Given the description of an element on the screen output the (x, y) to click on. 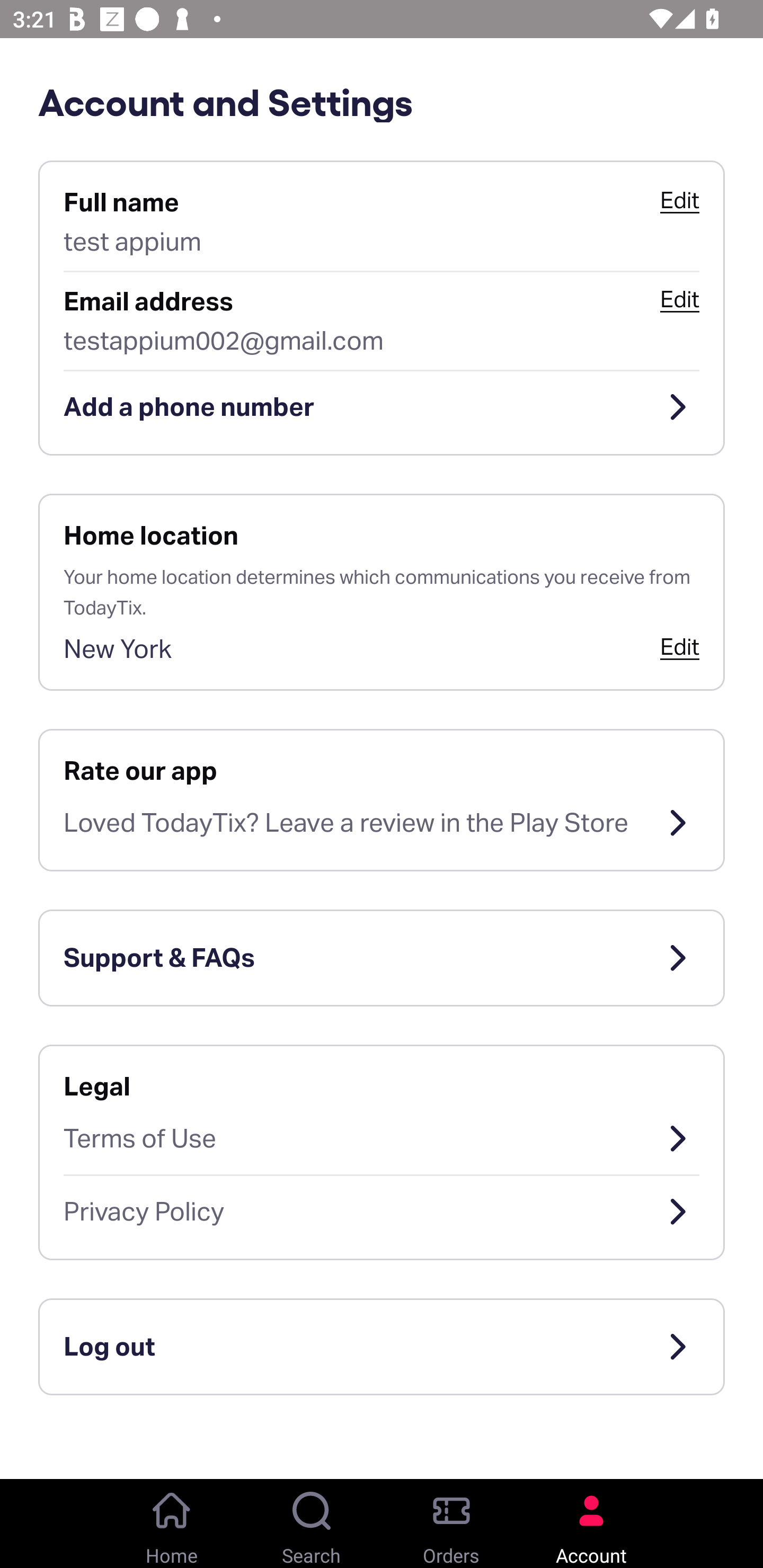
Edit (679, 200)
Edit (679, 299)
Add a phone number (381, 406)
Edit (679, 646)
Loved TodayTix? Leave a review in the Play Store (381, 822)
Support & FAQs (381, 957)
Terms of Use (381, 1137)
Privacy Policy (381, 1211)
Log out (381, 1346)
Home (171, 1523)
Search (311, 1523)
Orders (451, 1523)
